Given the description of an element on the screen output the (x, y) to click on. 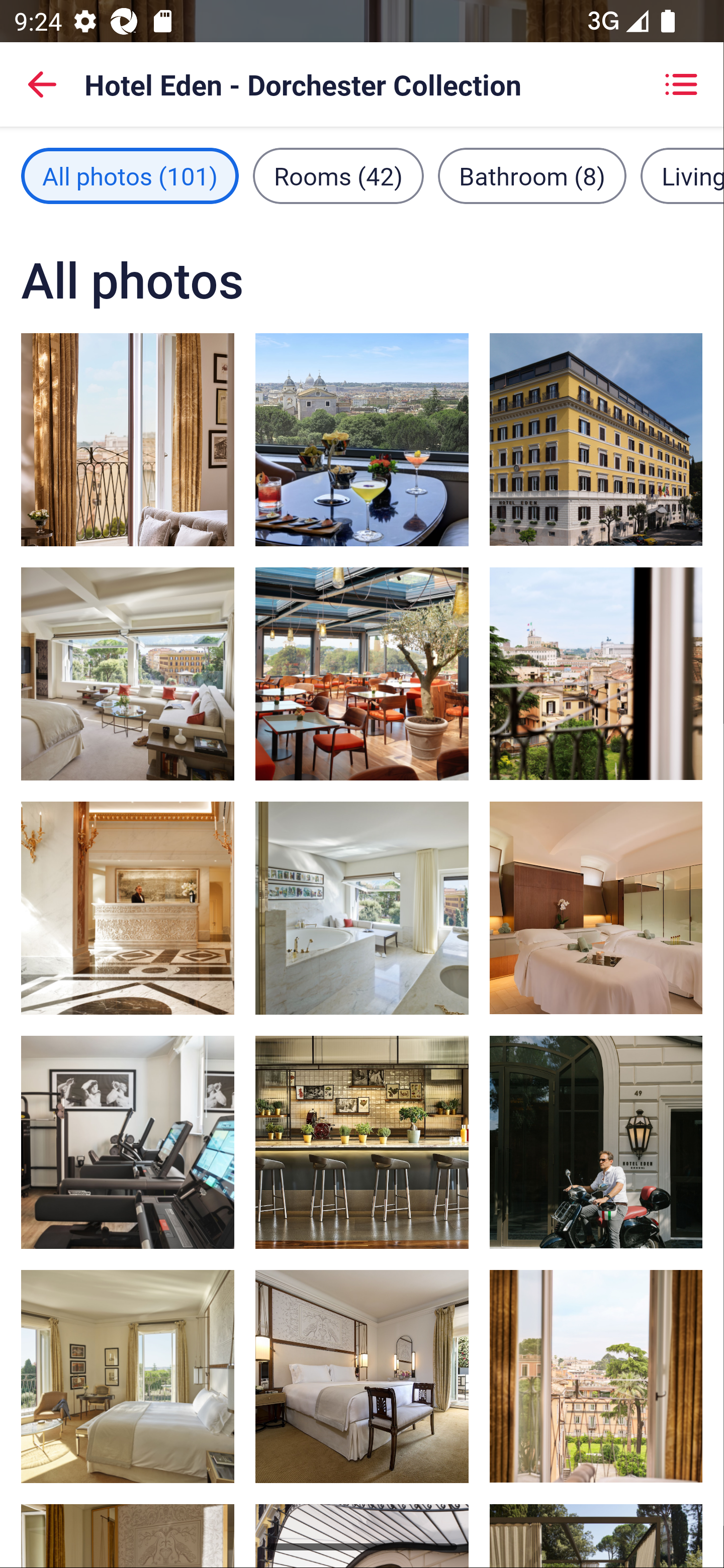
Back (42, 84)
Showing grid view (681, 84)
All photos filter, 101 images (129, 175)
Rooms filter, 42 images (337, 175)
Bathroom filter, 8 images (532, 175)
Living area filter, 10 images (681, 175)
Room, Balcony, View (Prestige) | Balcony, image (127, 438)
Exterior, image (595, 438)
Lobby, image (127, 907)
Gym, image (127, 1142)
Hiking, image (595, 1142)
Classic Room, Balcony, View | Balcony, image (595, 1376)
